Given the description of an element on the screen output the (x, y) to click on. 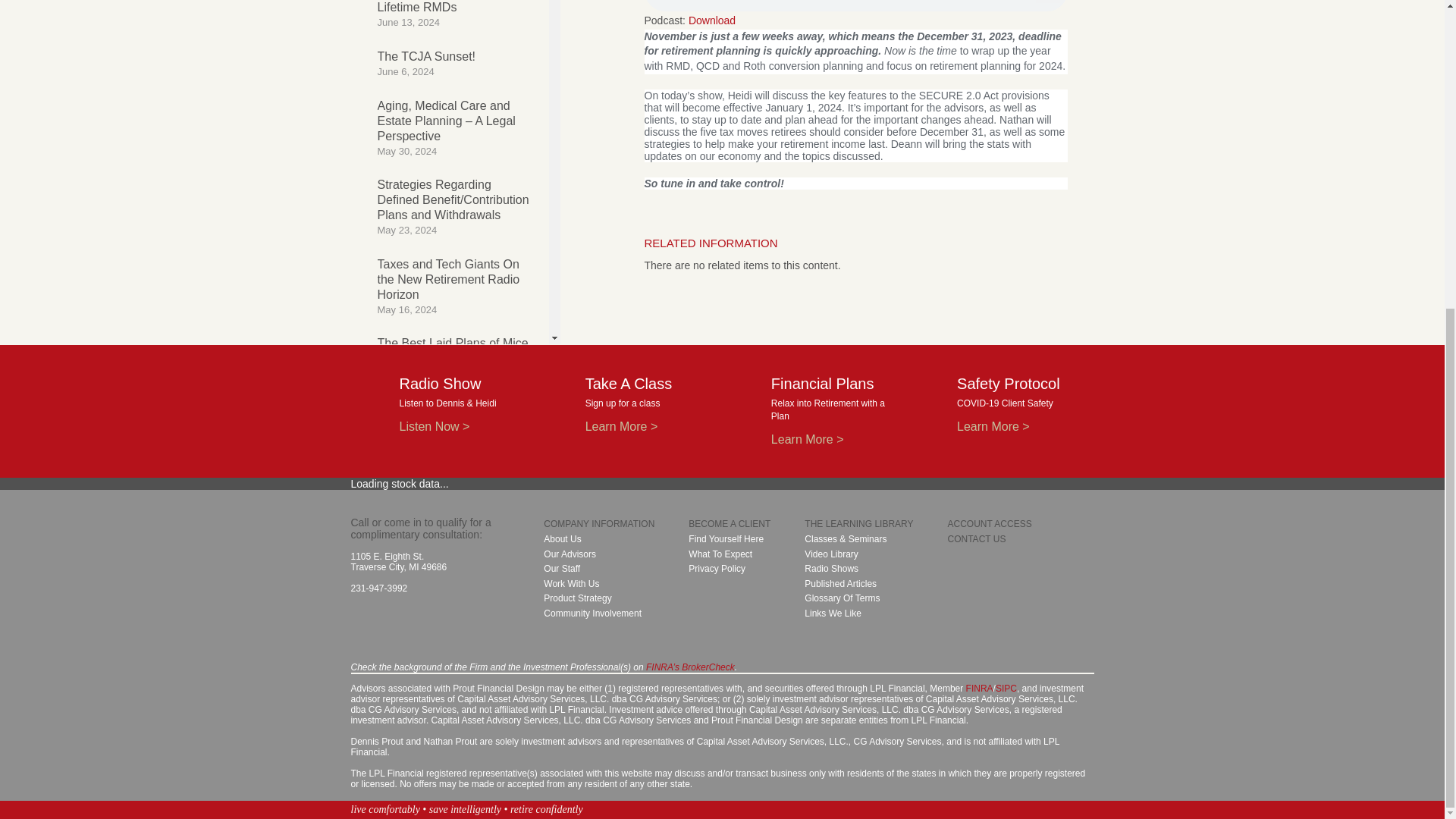
Download (711, 20)
Download (455, 13)
